Given the description of an element on the screen output the (x, y) to click on. 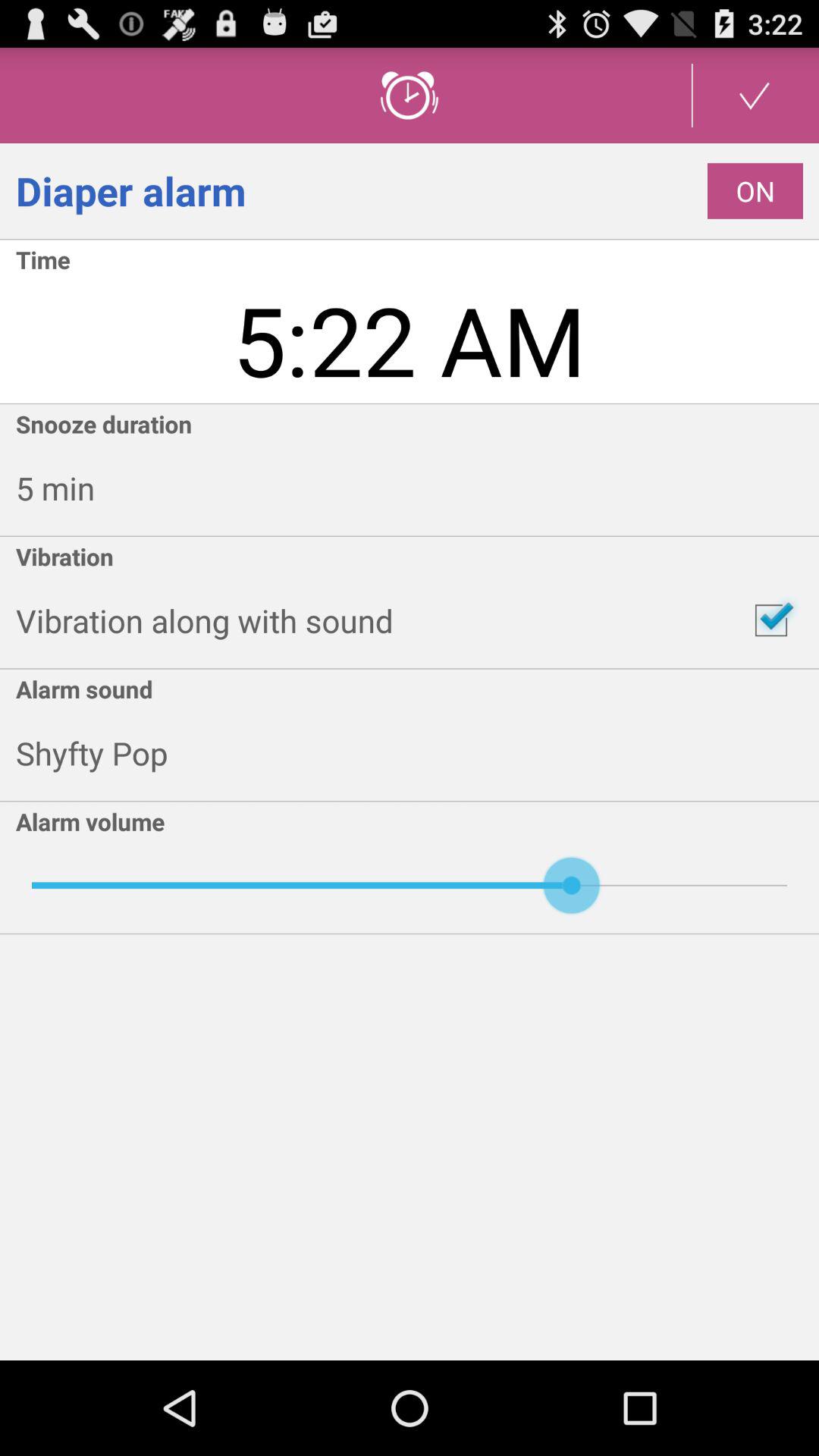
open icon on the right (771, 620)
